Given the description of an element on the screen output the (x, y) to click on. 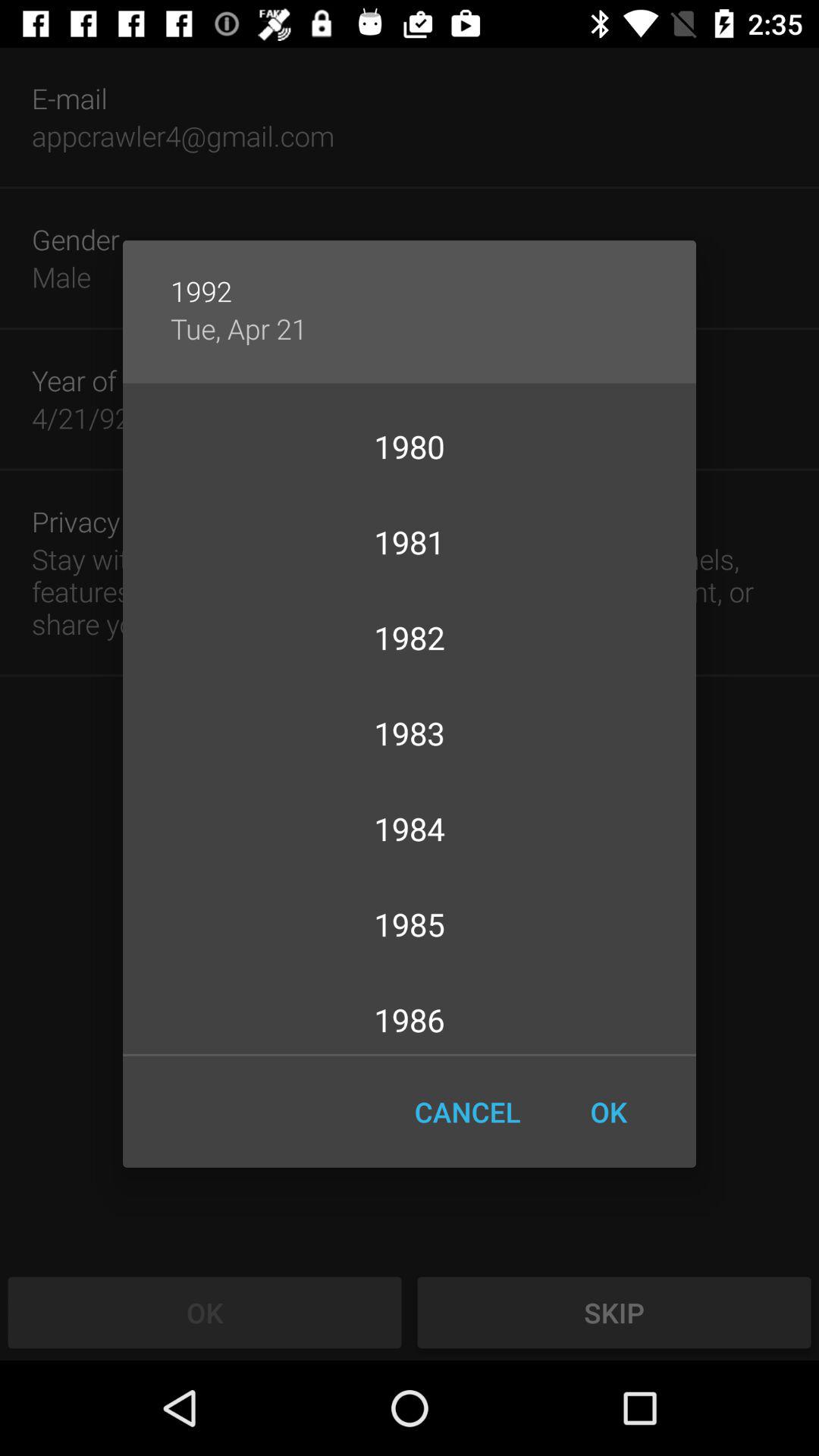
swipe until 1992 (409, 274)
